Given the description of an element on the screen output the (x, y) to click on. 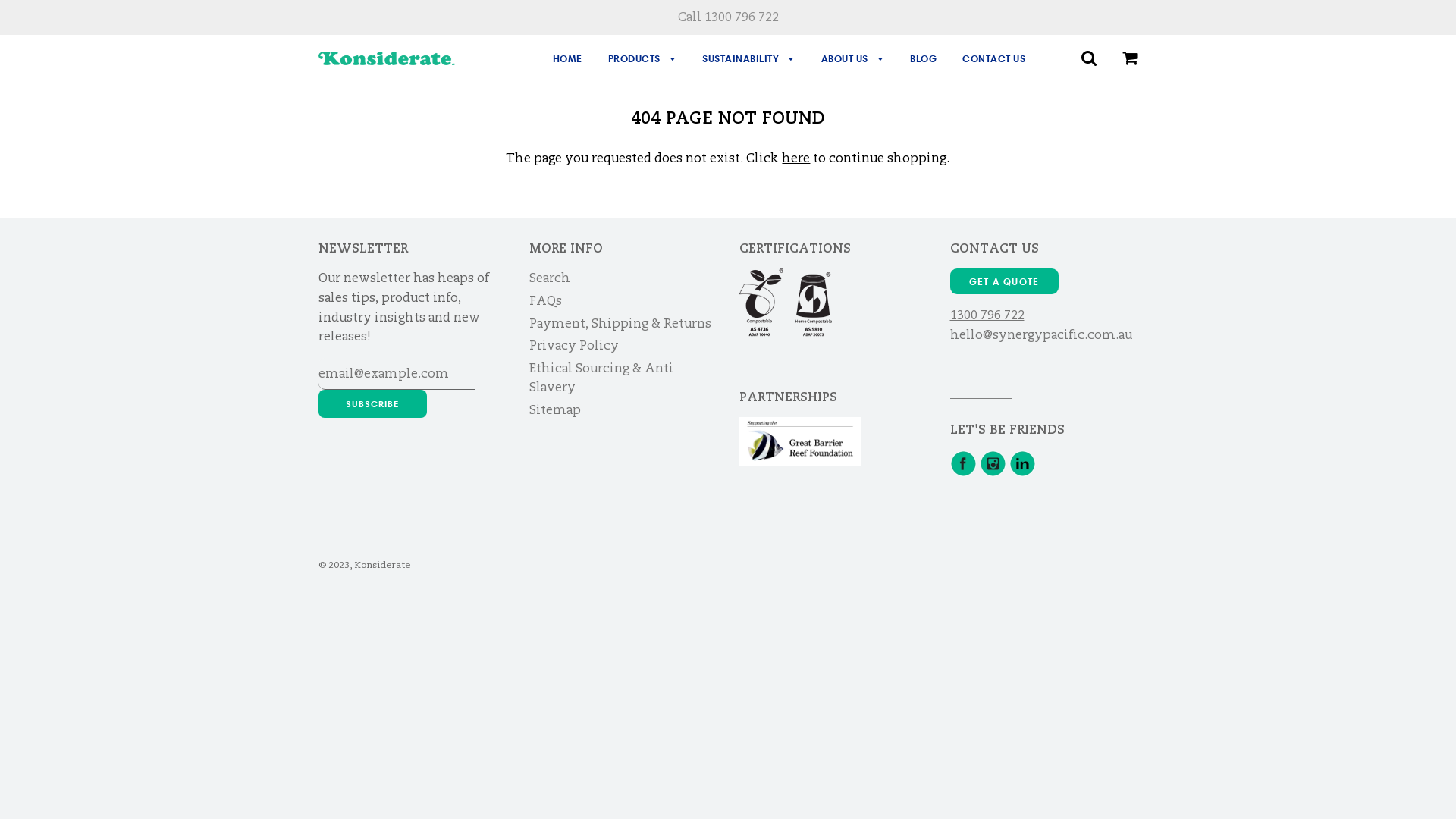
Privacy Policy Element type: text (573, 345)
SUSTAINABILITY Element type: text (748, 58)
HOME Element type: text (567, 58)
PRODUCTS Element type: text (641, 58)
GET A QUOTE Element type: text (1003, 281)
hello@synergypacific.com.au Element type: text (1040, 334)
CONTACT US Element type: text (987, 58)
1300 796 722 Element type: text (986, 315)
Ethical Sourcing & Anti Slavery Element type: text (601, 377)
FAQs Element type: text (545, 300)
Sitemap Element type: text (554, 409)
BLOG Element type: text (922, 58)
Search Element type: text (549, 277)
Subscribe Element type: text (372, 403)
ABOUT US Element type: text (852, 58)
Payment, Shipping & Returns Element type: text (620, 323)
here Element type: text (795, 158)
